Given the description of an element on the screen output the (x, y) to click on. 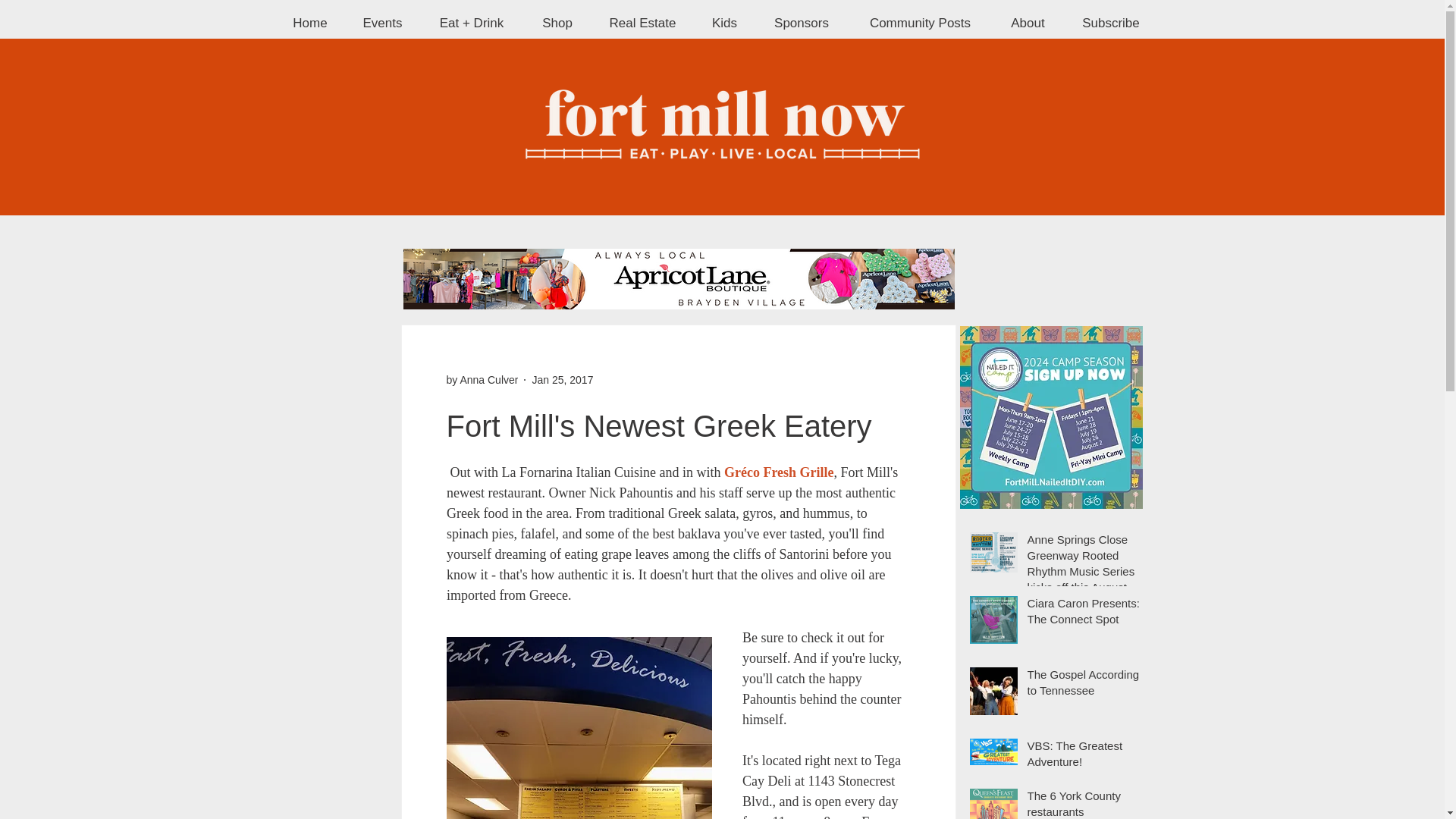
Jan 25, 2017 (561, 378)
VBS: The Greatest Adventure! (1083, 756)
Home (310, 23)
Sponsors (801, 23)
Subscribe (1109, 23)
The Gospel According to Tennessee (1083, 685)
Shop (556, 23)
Kids (724, 23)
About (1026, 23)
Events (383, 23)
Real Estate (642, 23)
by Anna Culver (481, 379)
Ciara Caron Presents: The Connect Spot (1083, 614)
